Given the description of an element on the screen output the (x, y) to click on. 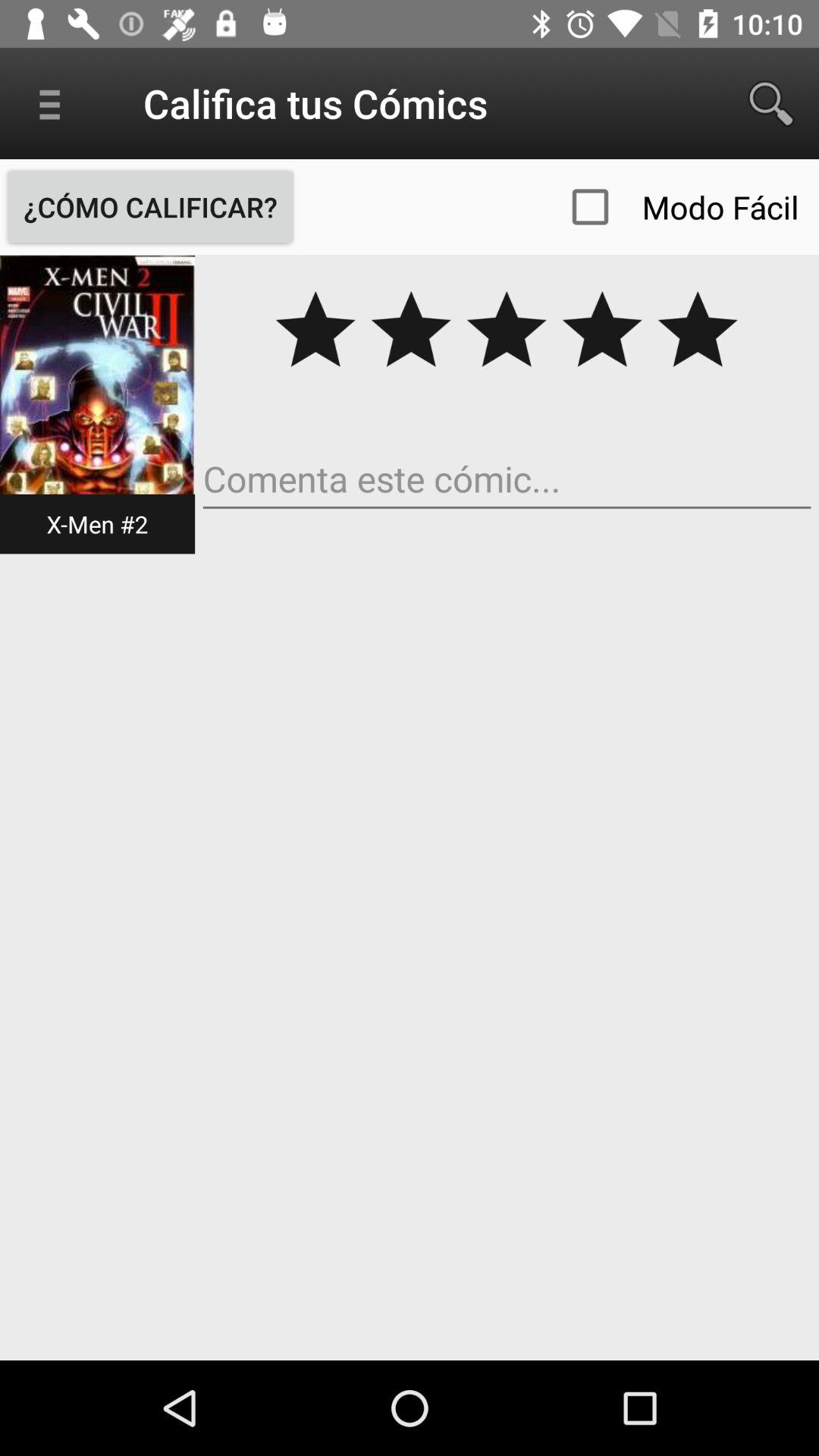
leave a comment (507, 479)
